Given the description of an element on the screen output the (x, y) to click on. 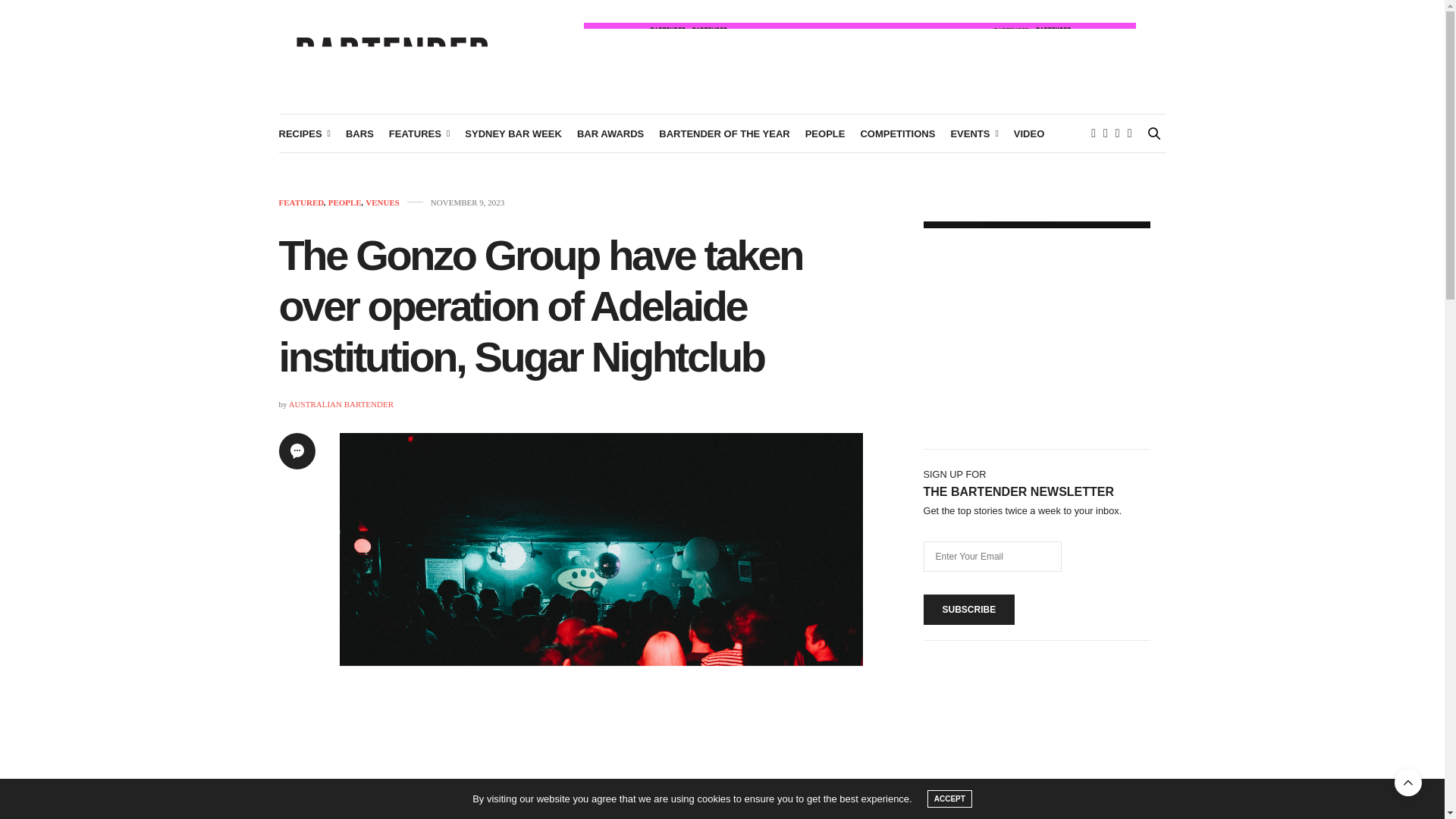
Posts by Australian Bartender (340, 403)
RECIPES (304, 133)
Scroll To Top (1408, 782)
FEATURES (418, 133)
Subscribe (968, 609)
australianbartender.com.au (393, 56)
